Given the description of an element on the screen output the (x, y) to click on. 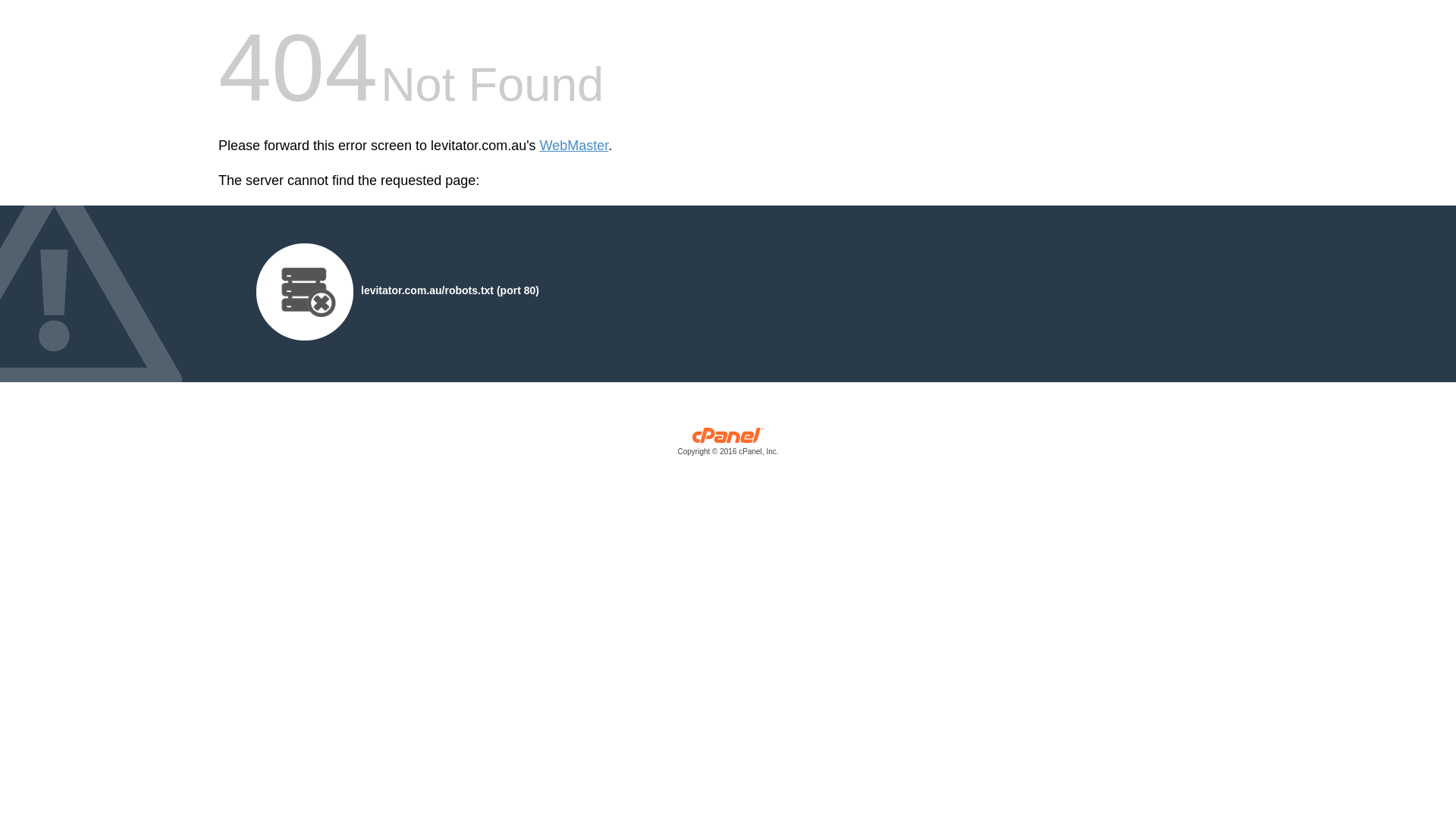
WebMaster Element type: text (573, 145)
